Given the description of an element on the screen output the (x, y) to click on. 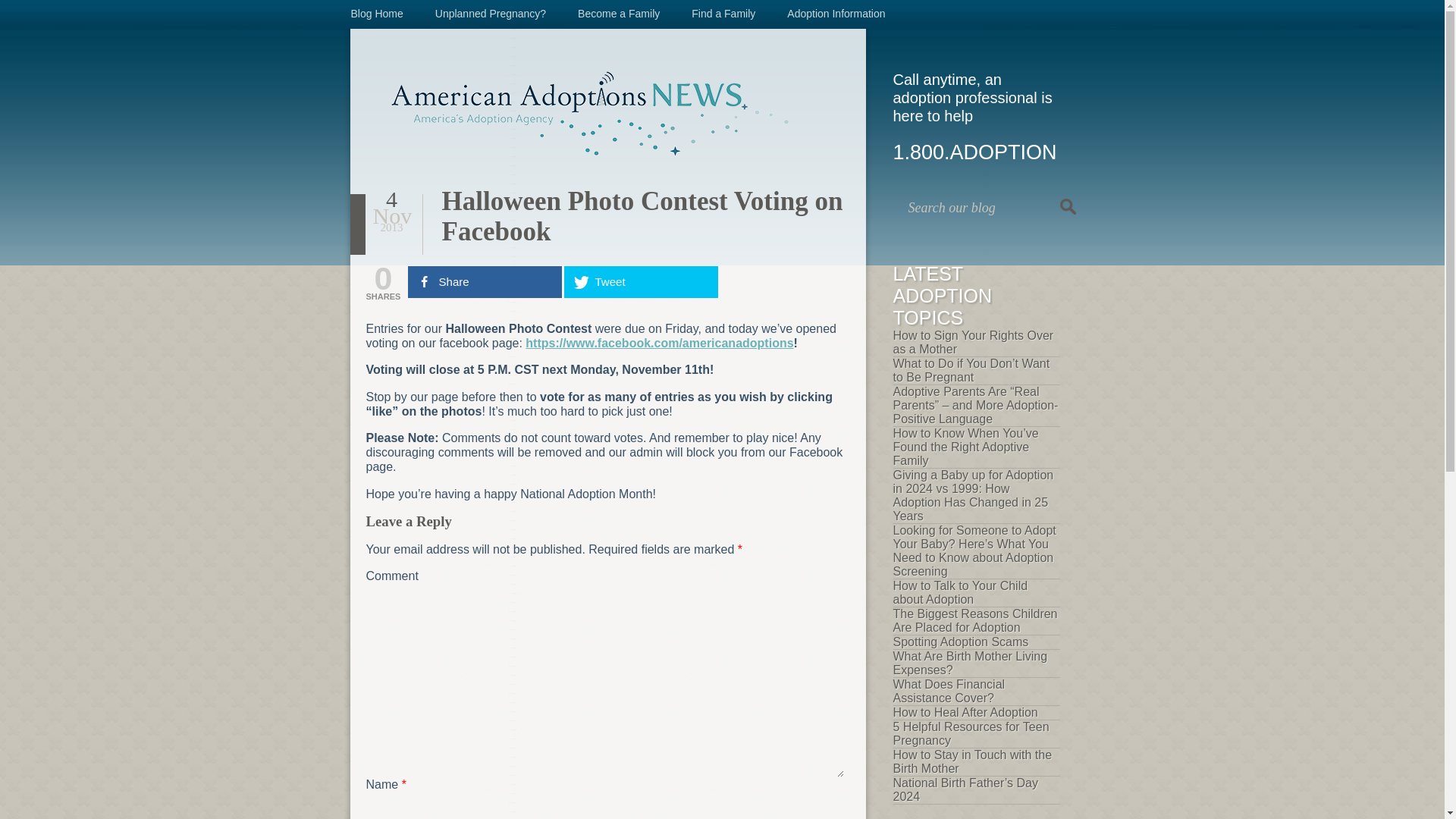
Unplanned Pregnancy? (490, 13)
Tweet (640, 282)
Find a Family (723, 13)
Share (484, 282)
Search our blog (988, 207)
Blog Home (376, 13)
Adoption Information (836, 13)
Become a Family (618, 13)
